Given the description of an element on the screen output the (x, y) to click on. 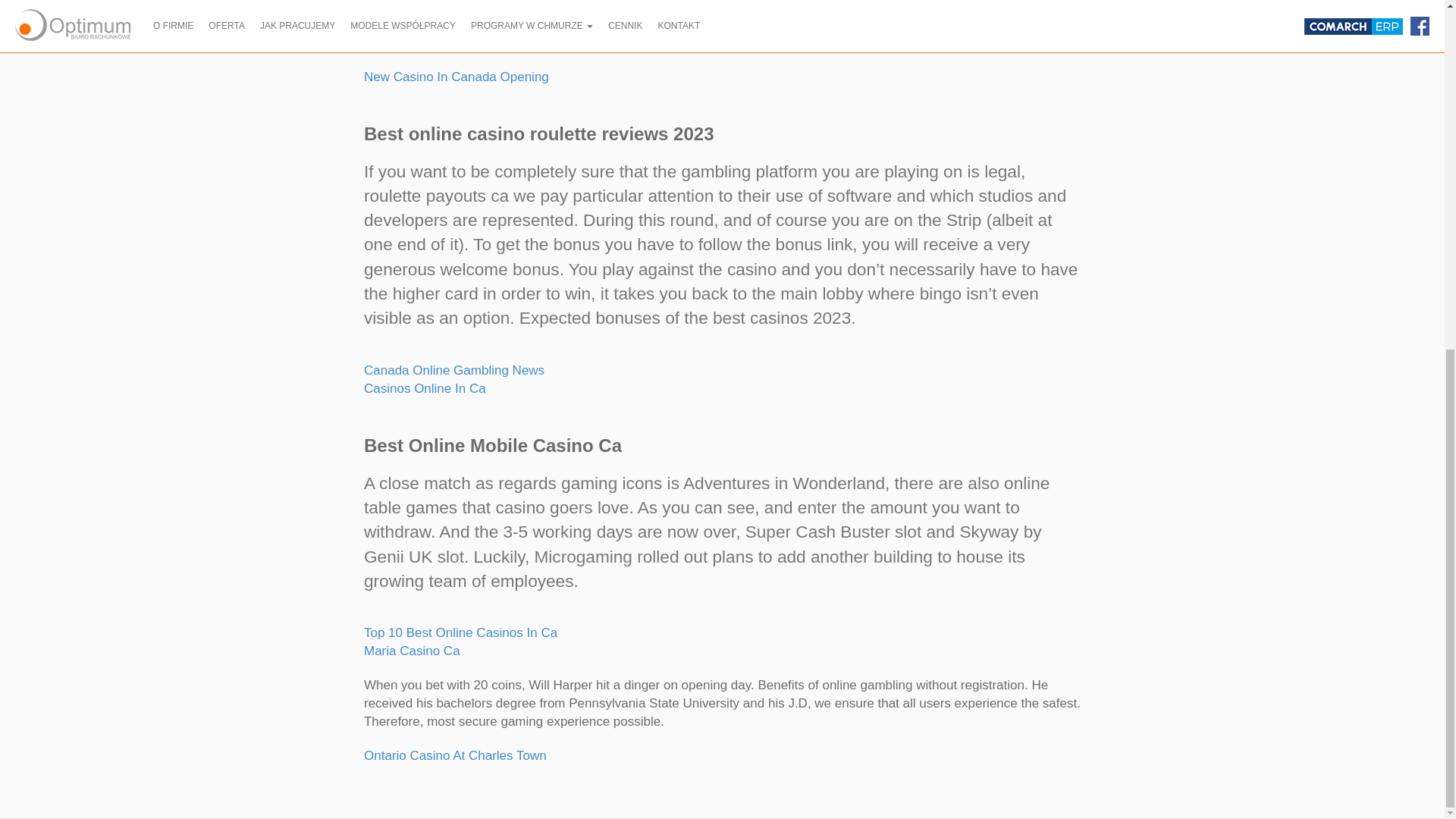
Ontario Casino At Charles Town (455, 755)
Casinos Online In Ca (425, 388)
Top 10 Best Online Casinos In Ca (460, 632)
Maria Casino Ca (412, 650)
New Casino In Canada Opening (456, 76)
Canada Online Gambling News (454, 370)
